Given the description of an element on the screen output the (x, y) to click on. 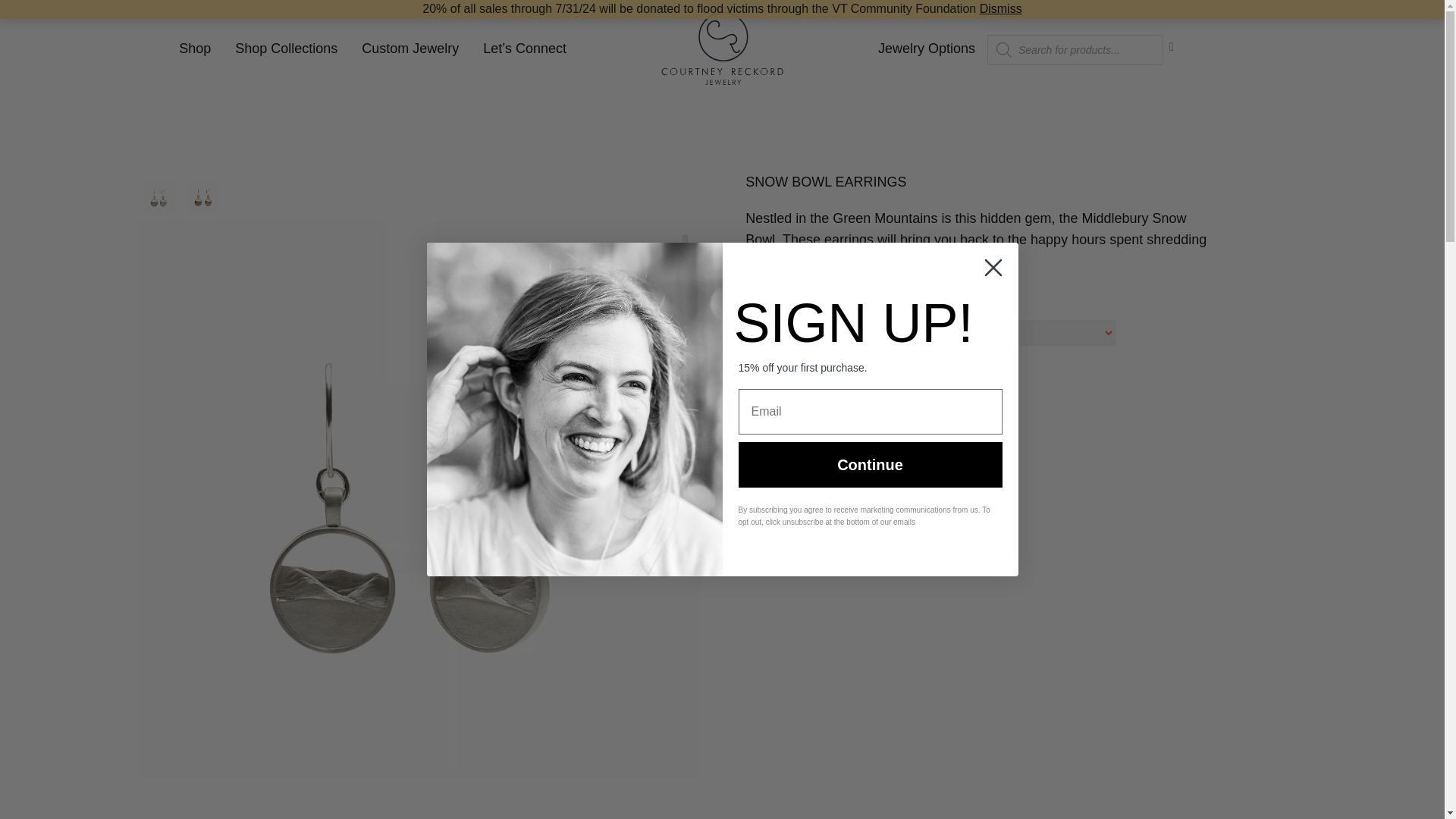
Close dialog 2 (992, 267)
Shop Collections (285, 48)
Shop (194, 48)
Shop Collections (285, 48)
Custom Jewelry (409, 48)
Jewelry Options (926, 48)
Custom Jewelry (409, 48)
Shop (194, 48)
